Given the description of an element on the screen output the (x, y) to click on. 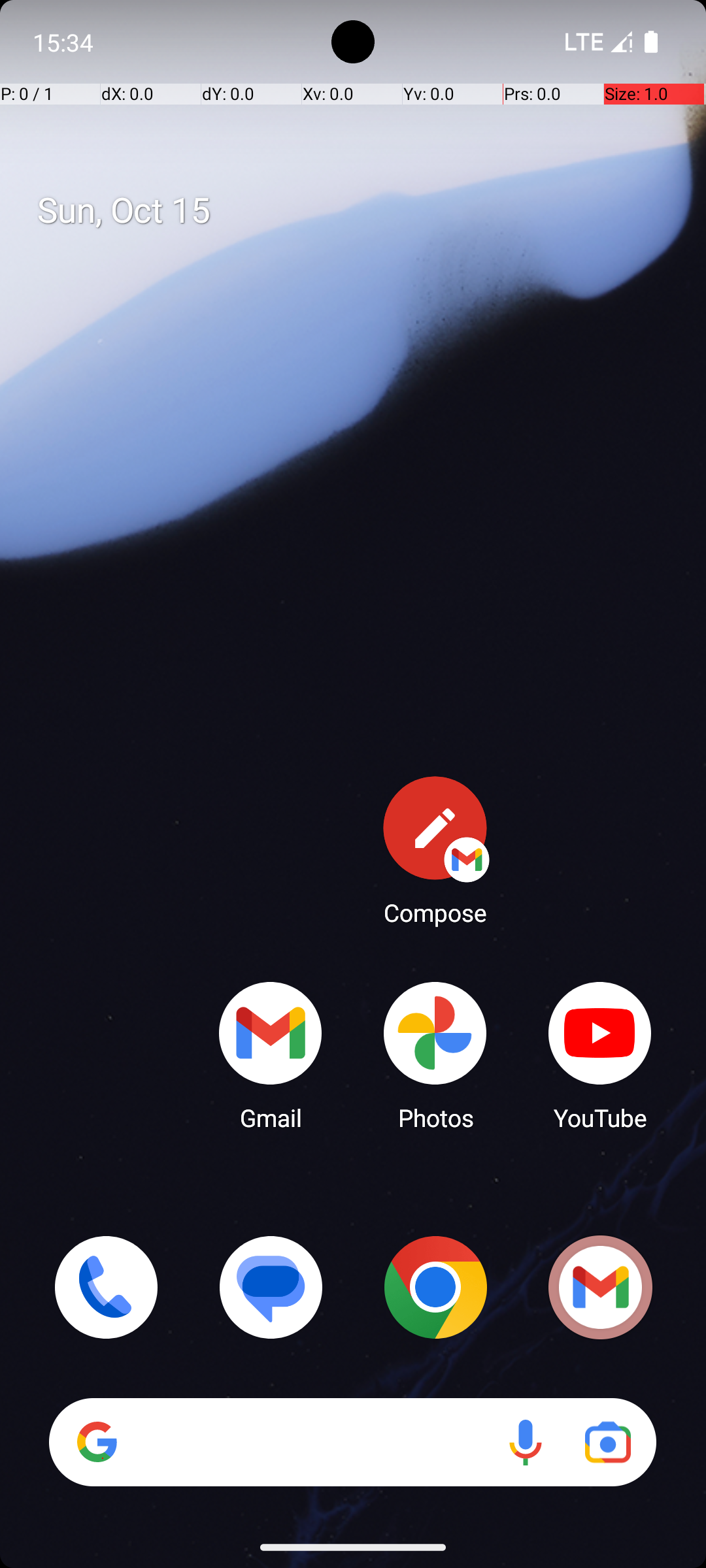
Compose Element type: android.widget.TextView (435, 849)
